Given the description of an element on the screen output the (x, y) to click on. 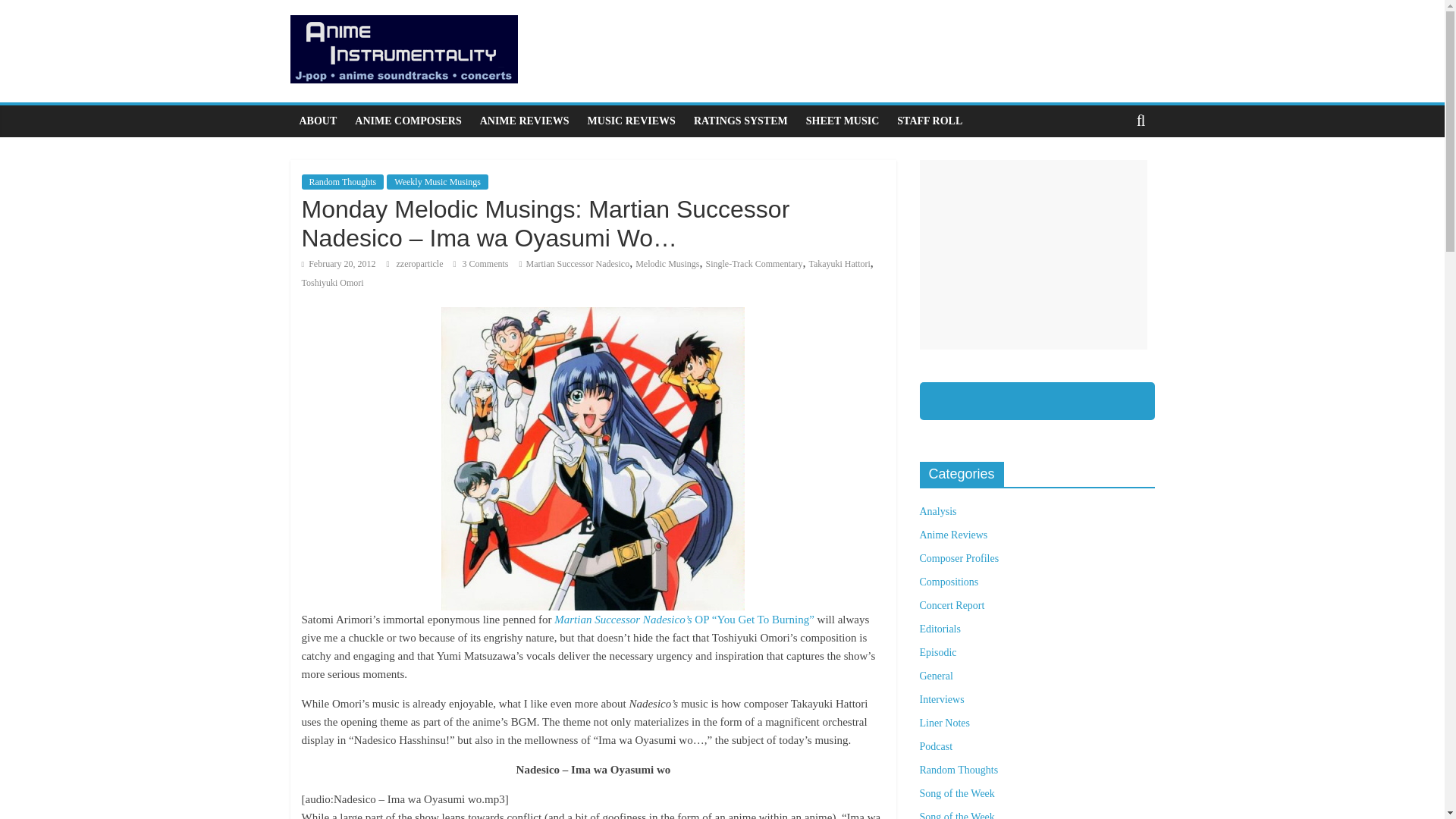
Random Thoughts (342, 181)
STAFF ROLL (929, 121)
Toshiyuki Omori (332, 282)
SHEET MUSIC (842, 121)
Nadesico Soundtrack (592, 458)
ANIME COMPOSERS (408, 121)
zzeroparticle (420, 263)
Takayuki Hattori (838, 263)
Weekly Music Musings (437, 181)
3 Comments (480, 263)
